Given the description of an element on the screen output the (x, y) to click on. 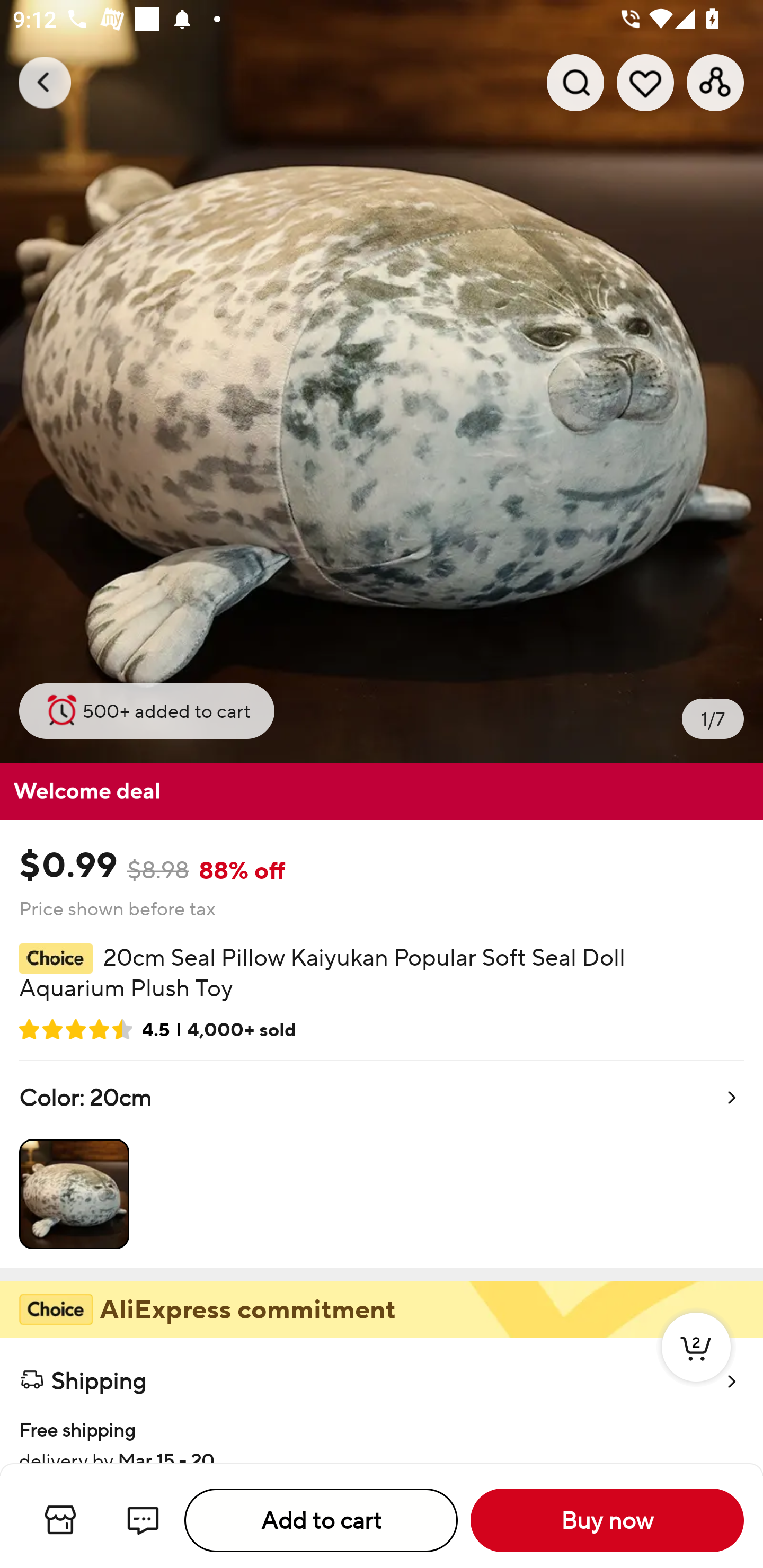
Navigate up (44, 82)
Color: 20cm  (381, 1164)
2 (695, 1366)
Free shipping  delivery by Mar 15 - 20  (381, 1431)
Add to cart (320, 1520)
Buy now (606, 1520)
